Given the description of an element on the screen output the (x, y) to click on. 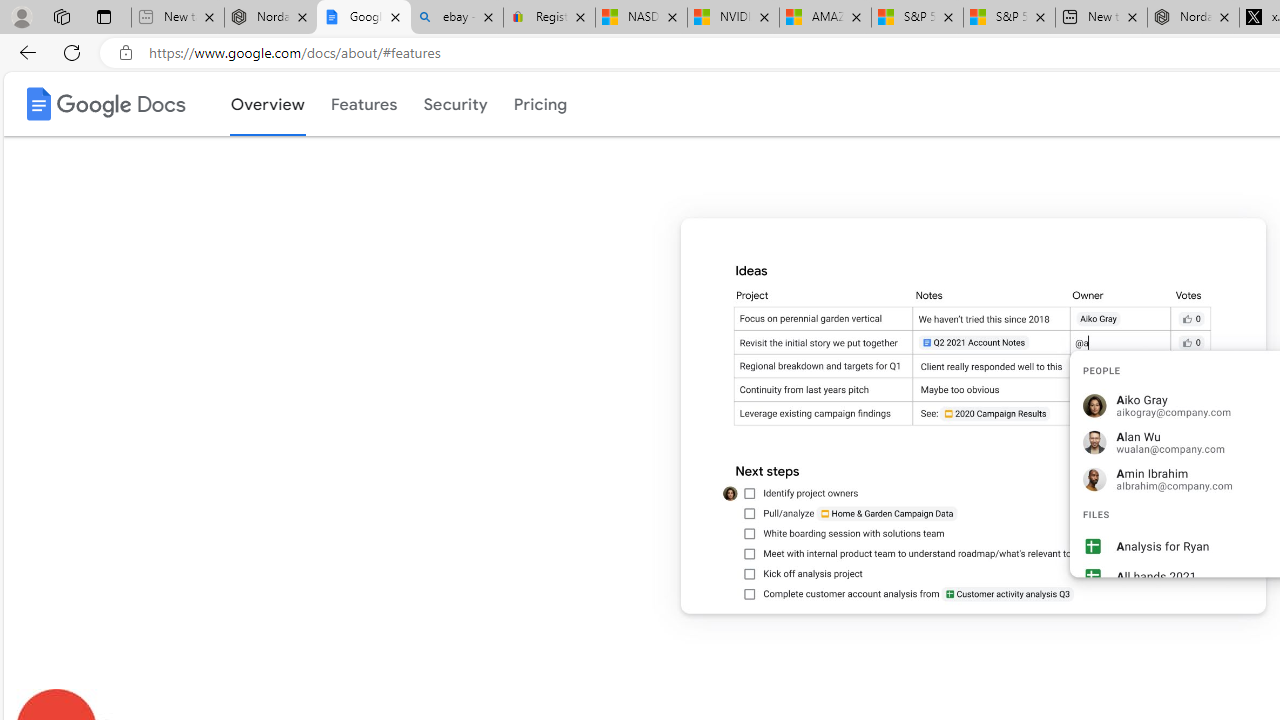
ebay - Search (456, 17)
Register: Create a personal eBay account (549, 17)
New tab - Sleeping (177, 17)
